Given the description of an element on the screen output the (x, y) to click on. 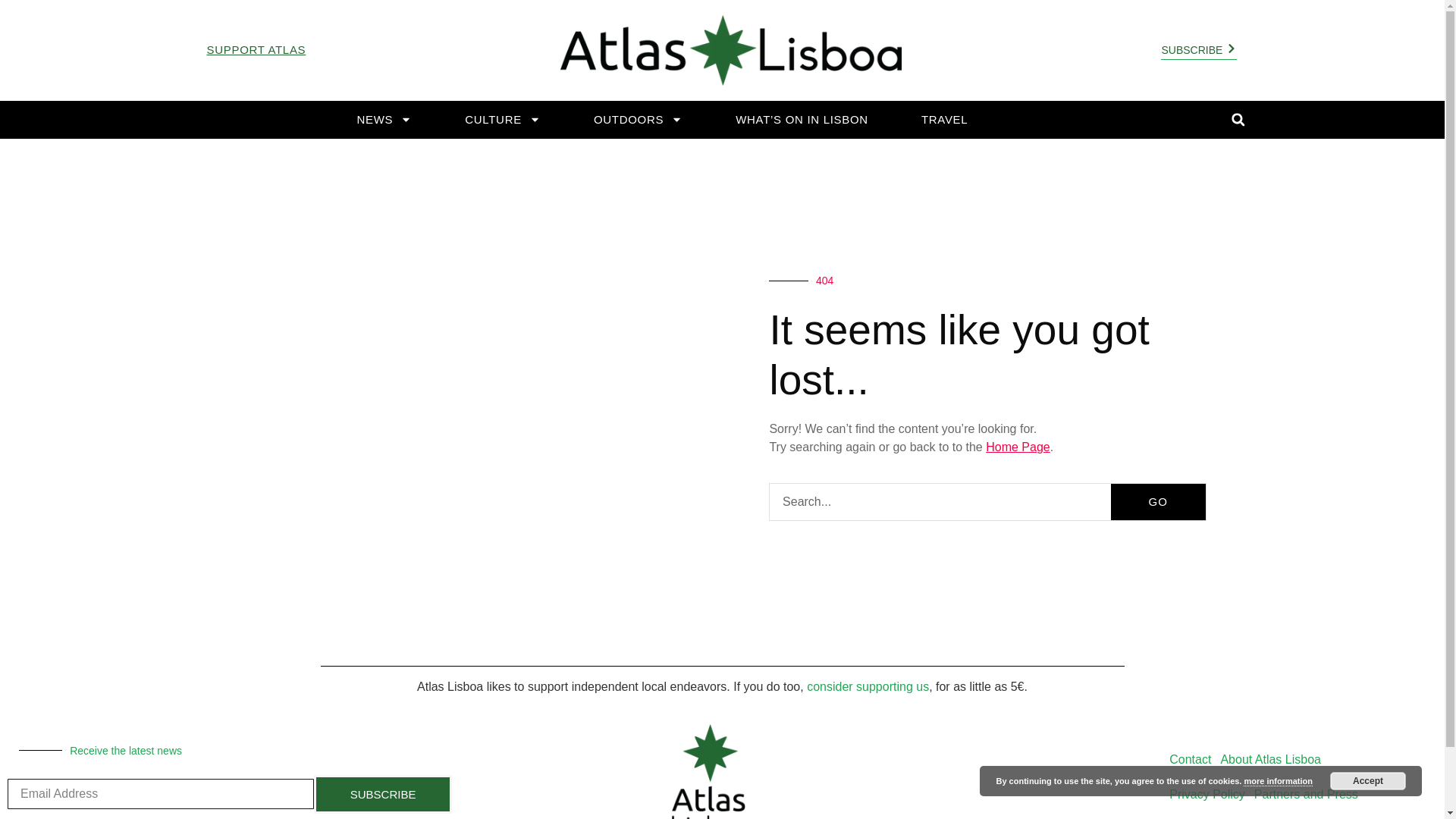
SUPPORT ATLAS (255, 49)
SUBSCRIBE (1198, 50)
Privacy Policy (1206, 794)
SUBSCRIBE (382, 794)
About Atlas Lisboa (1269, 759)
TRAVEL (944, 119)
consider supporting us (867, 686)
CULTURE (502, 119)
Contact (1189, 759)
OUTDOORS (637, 119)
